Given the description of an element on the screen output the (x, y) to click on. 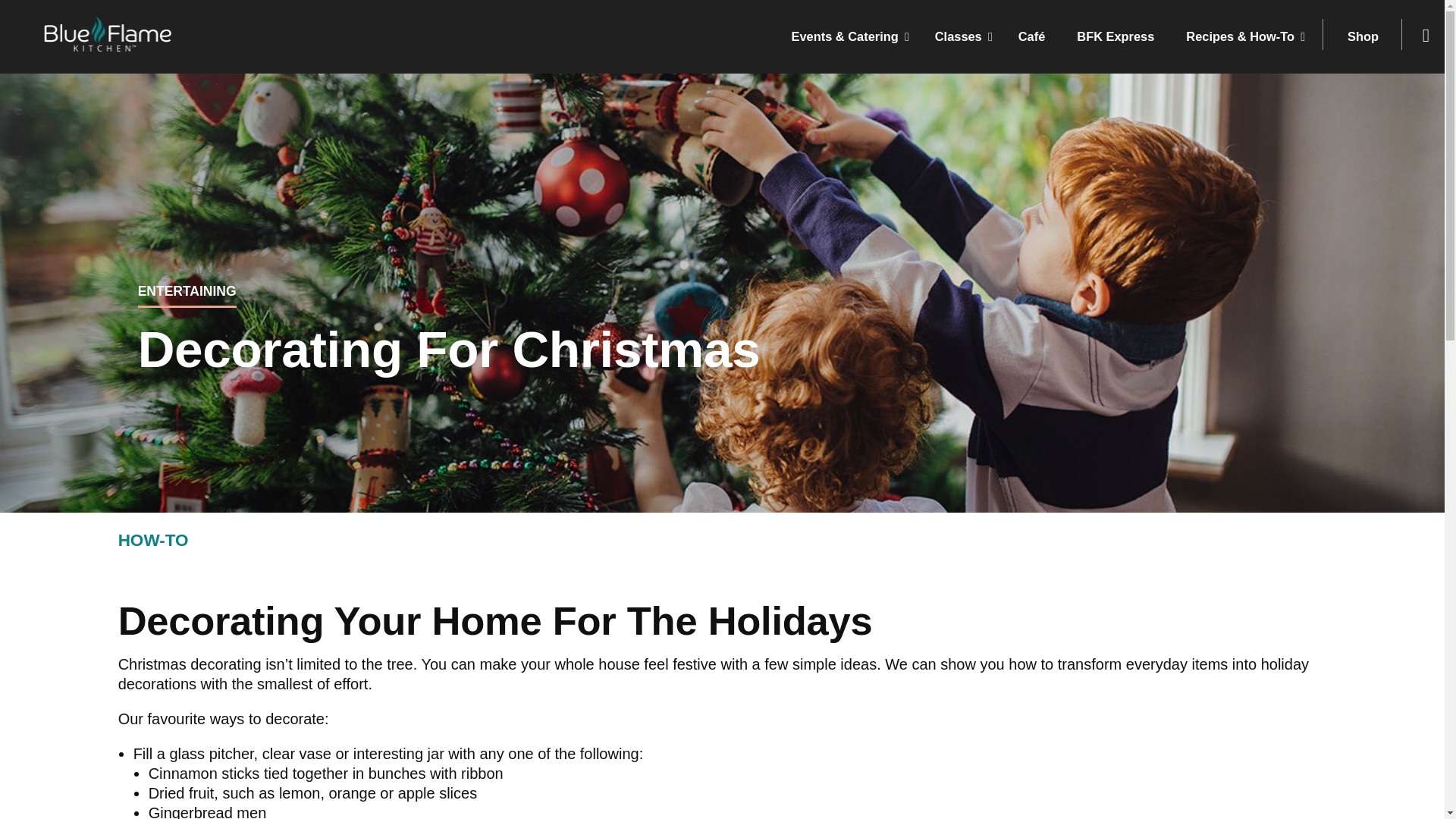
BFK Express (1118, 36)
HOW-TO (153, 539)
Classes (962, 36)
